Given the description of an element on the screen output the (x, y) to click on. 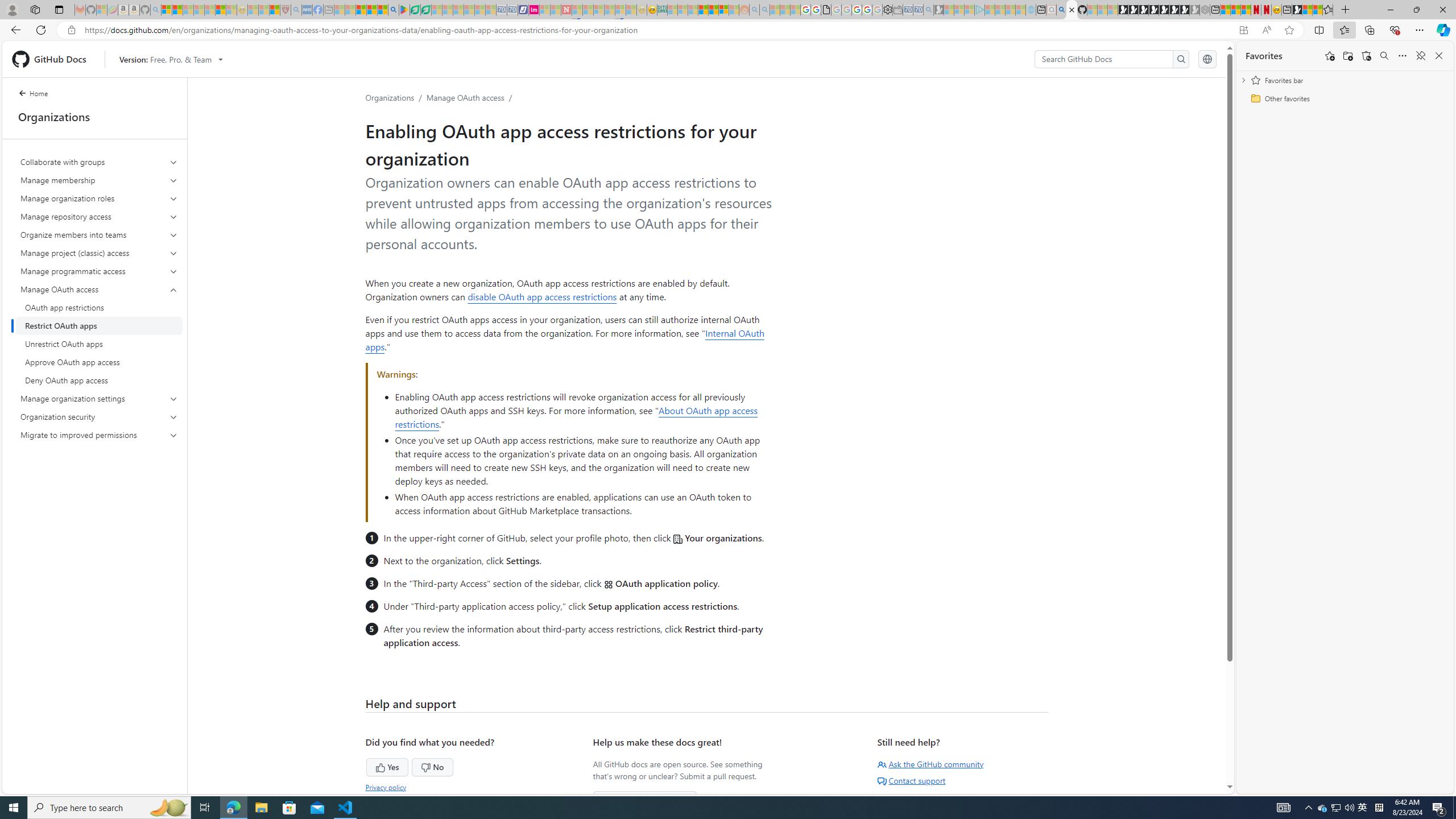
Privacy policy (385, 786)
Bluey: Let's Play! - Apps on Google Play (404, 9)
Kinda Frugal - MSN (713, 9)
Restore deleted favorites (1366, 55)
Organization security (99, 416)
DITOGAMES AG Imprint (662, 9)
Ask the GitHub community (930, 763)
